Given the description of an element on the screen output the (x, y) to click on. 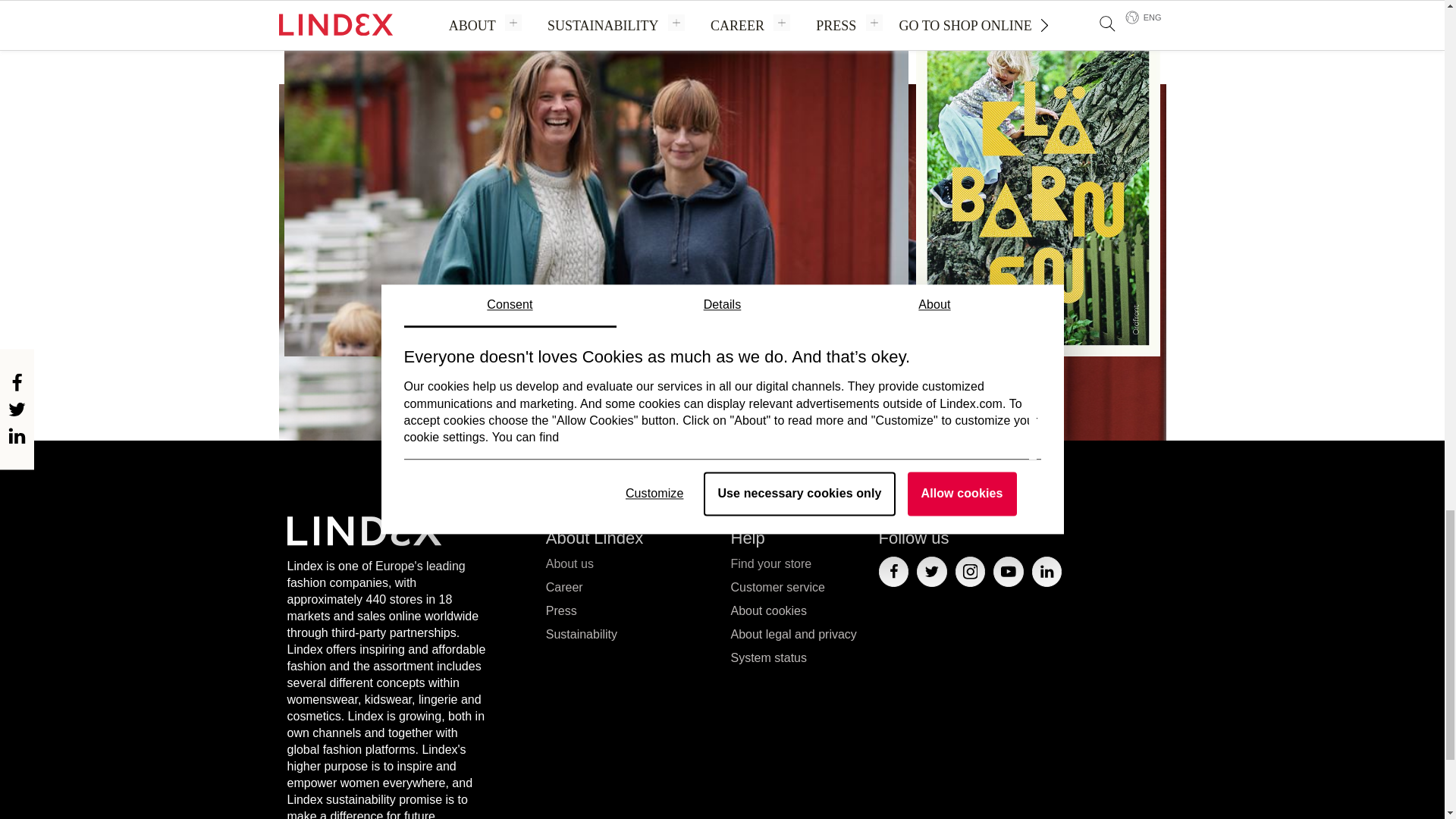
Instagram logo (970, 571)
Twitter logo (931, 571)
Facebook logo (893, 571)
LinkedIn logo (1046, 571)
YouTube logo (1008, 571)
